Given the description of an element on the screen output the (x, y) to click on. 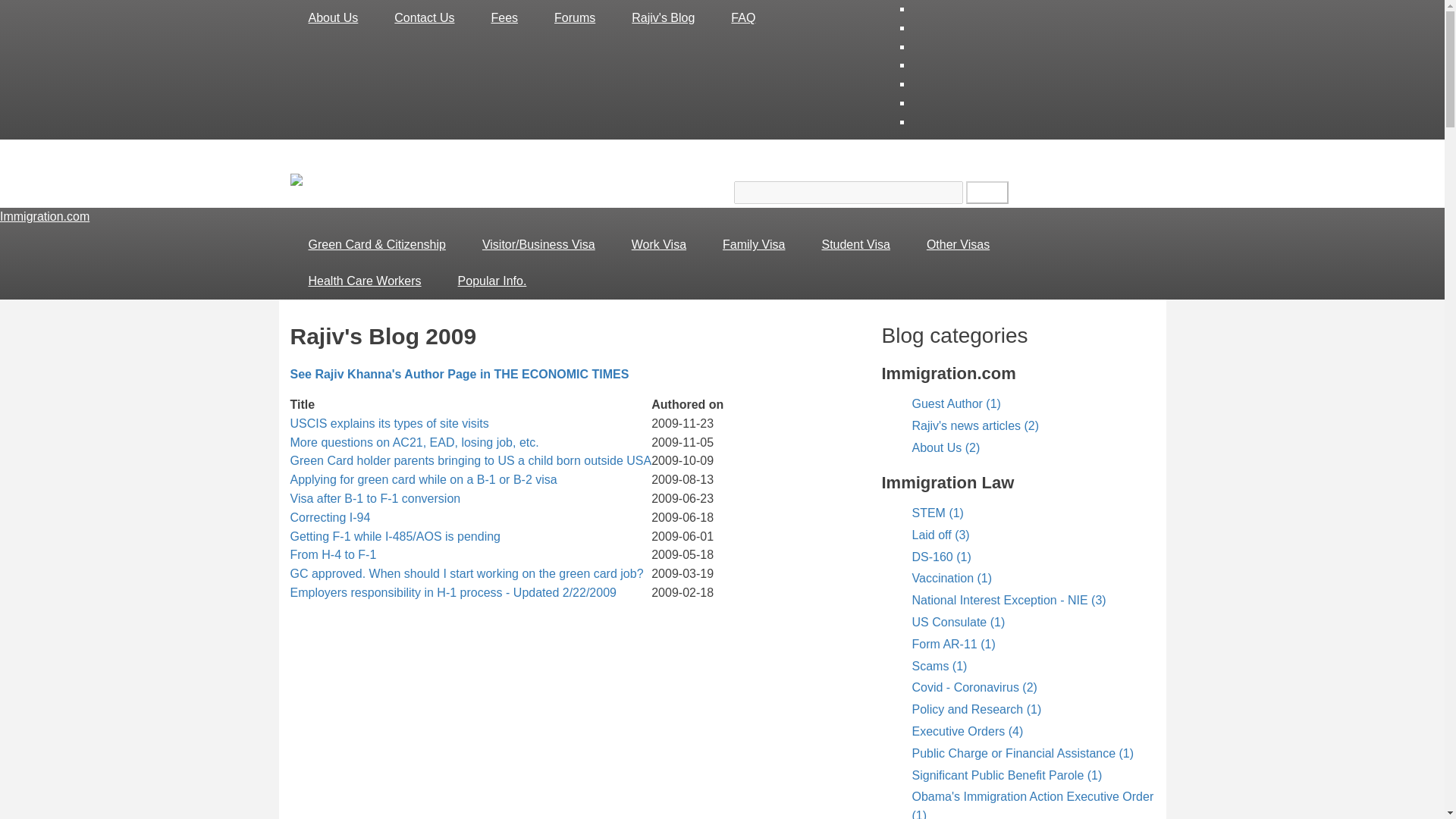
About Us (332, 18)
Fees (503, 18)
Apply (987, 192)
Contact Us (423, 18)
Forums (573, 18)
FAQs (743, 18)
Rajiv's Blog (662, 18)
Home (311, 182)
Home (44, 215)
